Given the description of an element on the screen output the (x, y) to click on. 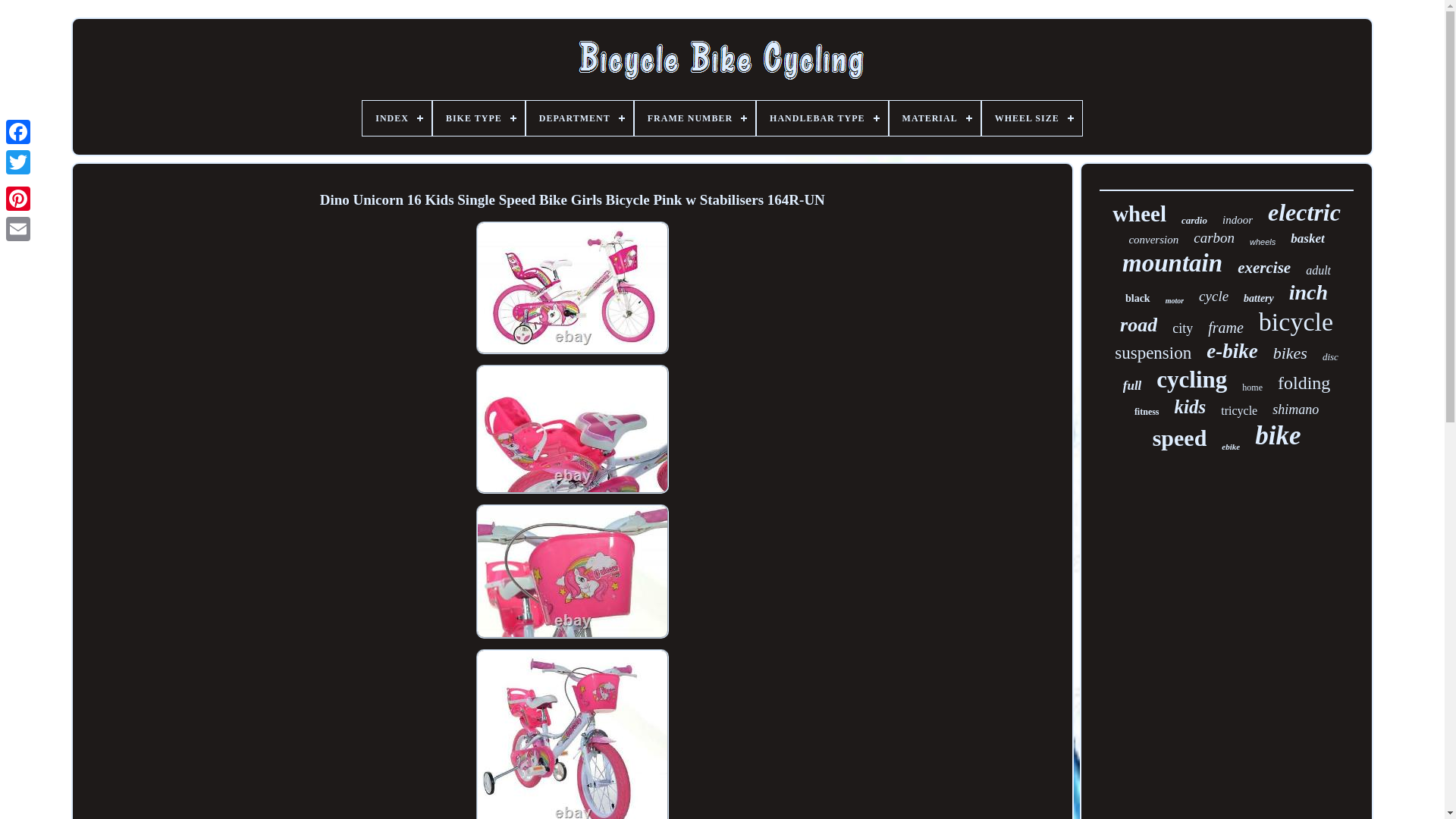
BIKE TYPE (537, 117)
INDEX (454, 117)
BRAND (620, 117)
